Given the description of an element on the screen output the (x, y) to click on. 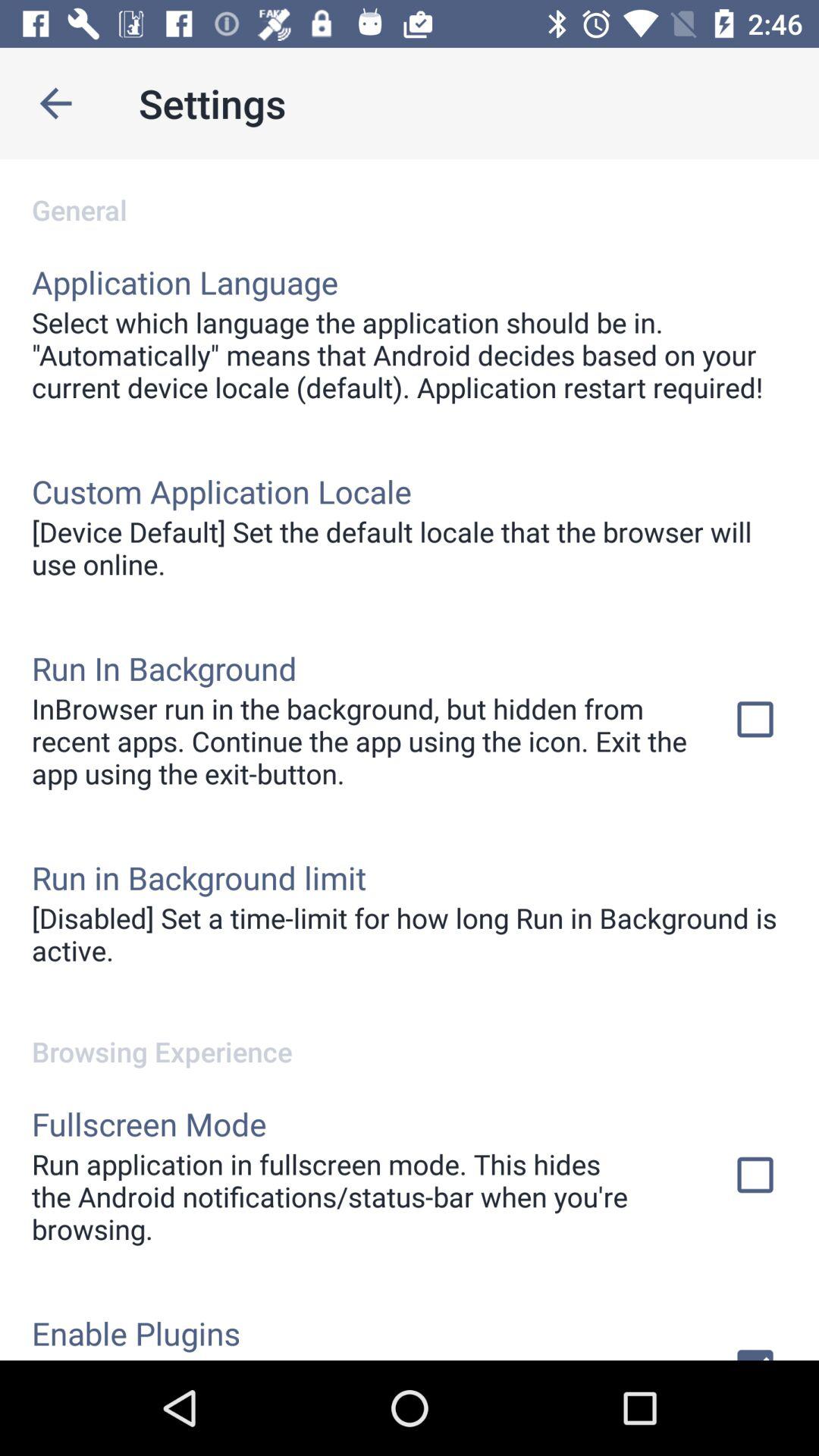
tap the icon above fullscreen mode (409, 1035)
